Given the description of an element on the screen output the (x, y) to click on. 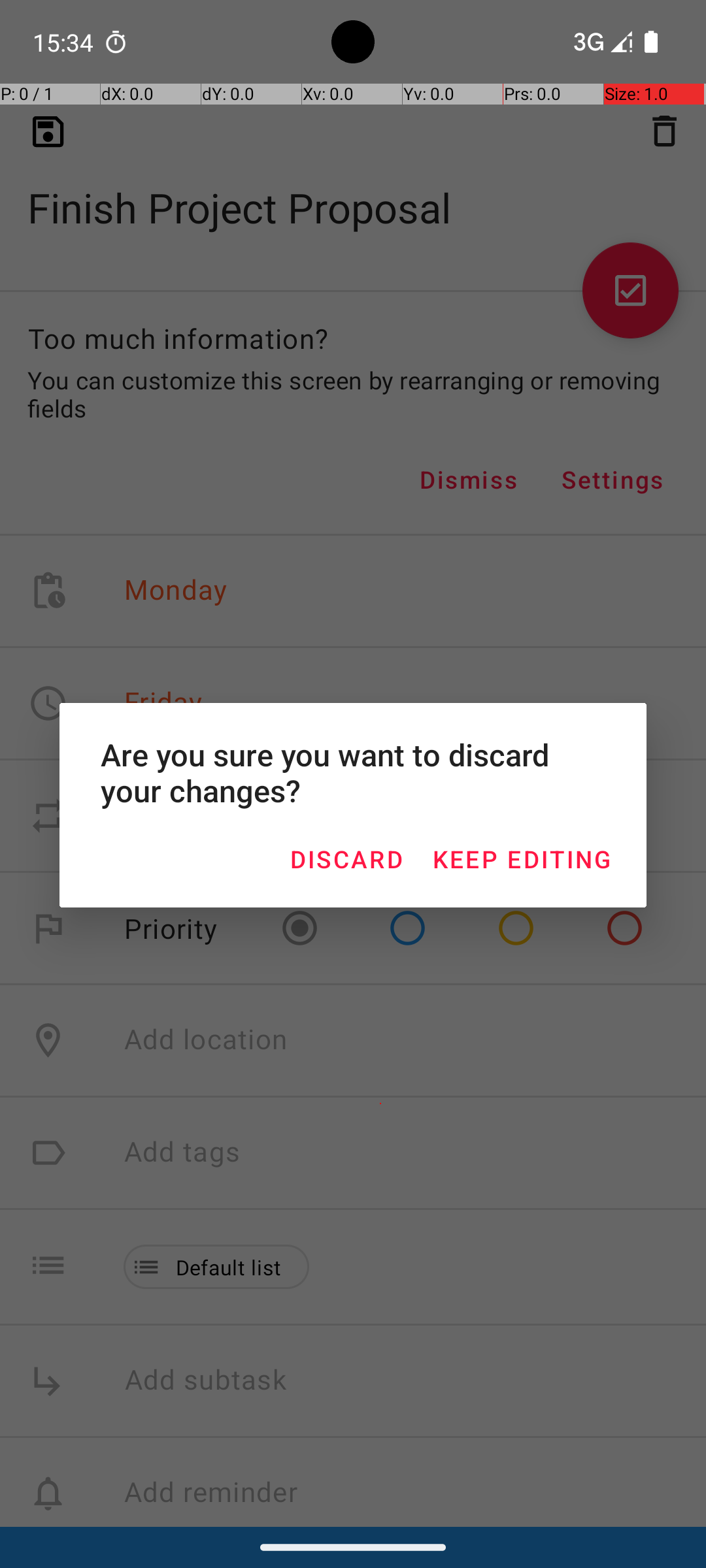
Are you sure you want to discard your changes? Element type: android.widget.TextView (352, 771)
DISCARD Element type: android.widget.Button (345, 858)
KEEP EDITING Element type: android.widget.Button (521, 858)
